Given the description of an element on the screen output the (x, y) to click on. 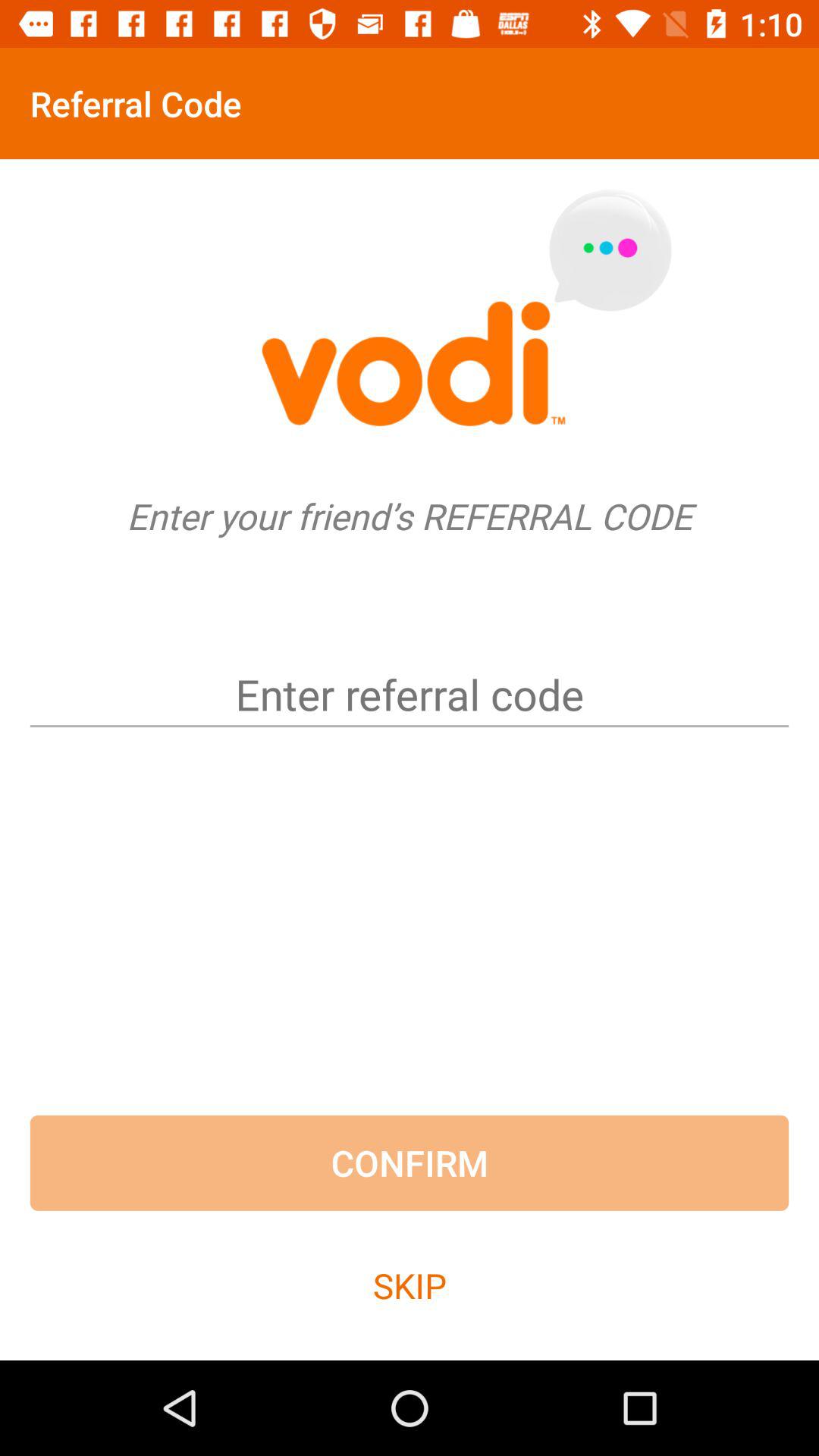
jump until the skip item (409, 1285)
